Given the description of an element on the screen output the (x, y) to click on. 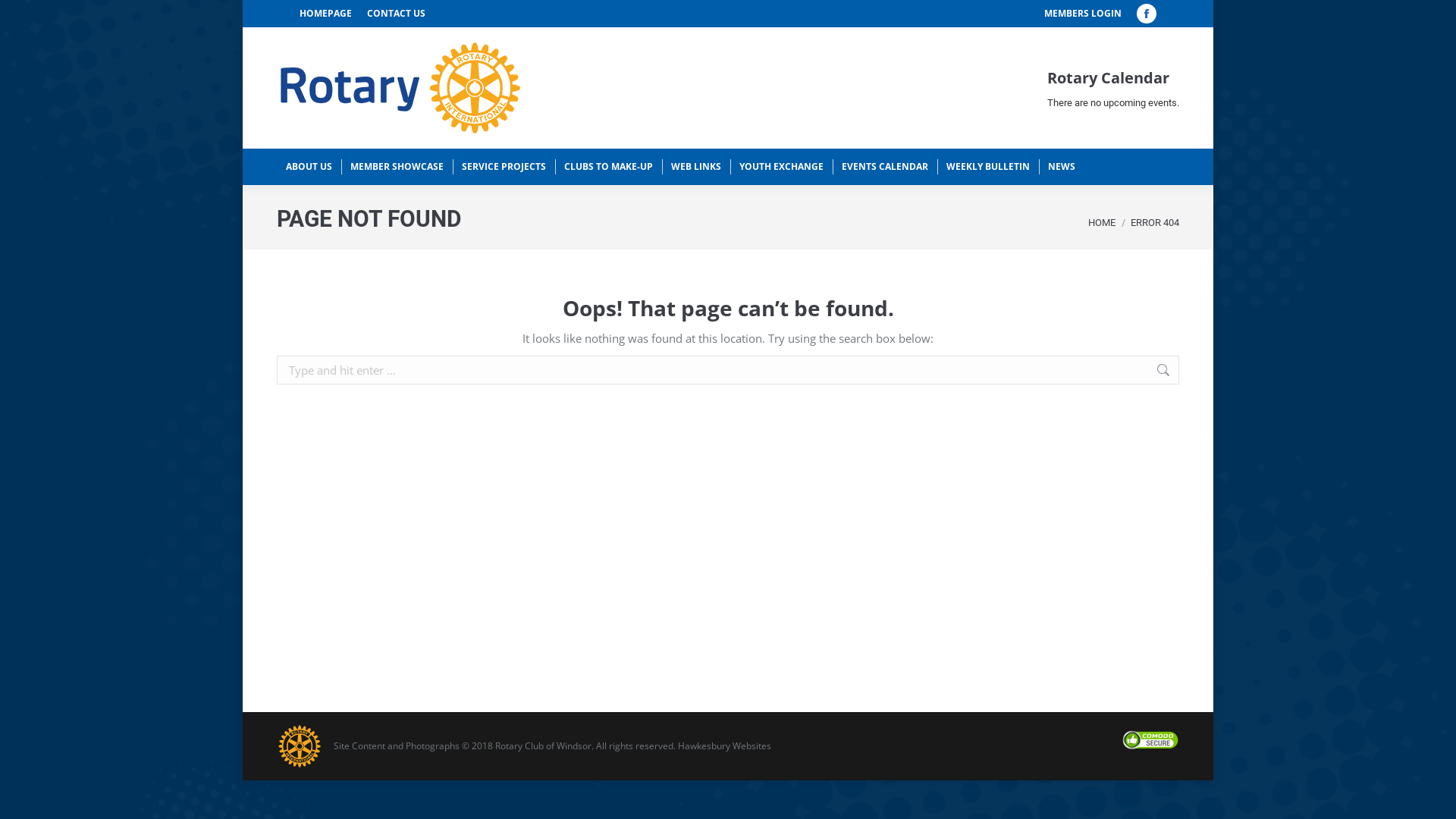
NEWS Element type: text (1061, 166)
SERVICE PROJECTS Element type: text (503, 166)
CONTACT US Element type: text (396, 13)
WEB LINKS Element type: text (696, 166)
Go! Element type: text (1202, 372)
HOMEPAGE Element type: text (325, 13)
YOUTH EXCHANGE Element type: text (781, 166)
ABOUT US Element type: text (308, 166)
Facebook page opens in new window Element type: text (1146, 13)
Hawkesbury Websites Element type: text (724, 745)
WEEKLY BULLETIN Element type: text (987, 166)
HOME Element type: text (1101, 222)
MEMBERS LOGIN Element type: text (1082, 13)
EVENTS CALENDAR Element type: text (884, 166)
CLUBS TO MAKE-UP Element type: text (608, 166)
MEMBER SHOWCASE Element type: text (396, 166)
